Given the description of an element on the screen output the (x, y) to click on. 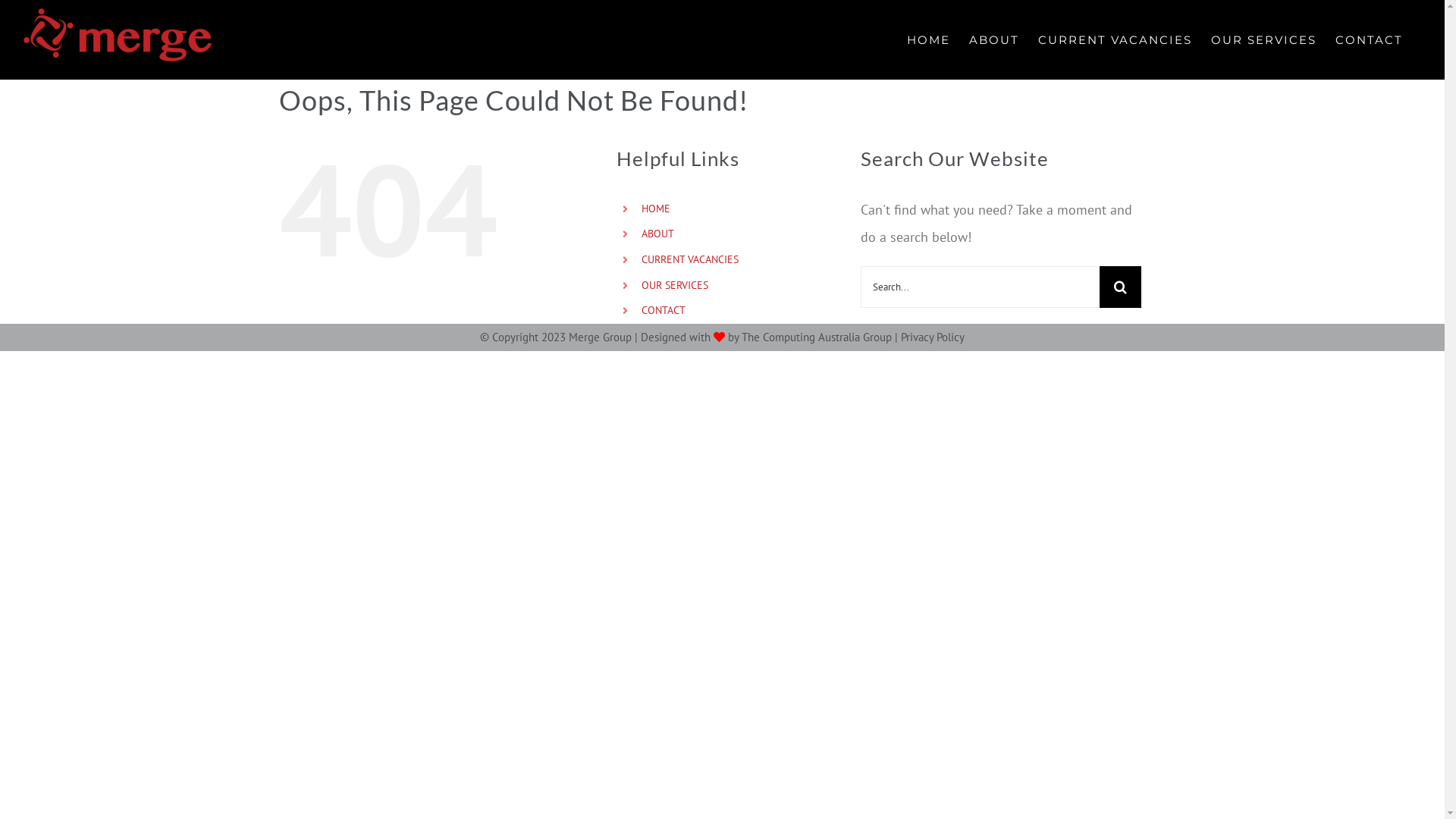
CURRENT VACANCIES Element type: text (1115, 39)
OUR SERVICES Element type: text (674, 284)
The Computing Australia Group Element type: text (816, 336)
CONTACT Element type: text (1368, 39)
CONTACT Element type: text (663, 309)
HOME Element type: text (928, 39)
CURRENT VACANCIES Element type: text (689, 259)
ABOUT Element type: text (994, 39)
HOME Element type: text (655, 208)
ABOUT Element type: text (657, 233)
Privacy Policy Element type: text (932, 336)
OUR SERVICES Element type: text (1263, 39)
